Given the description of an element on the screen output the (x, y) to click on. 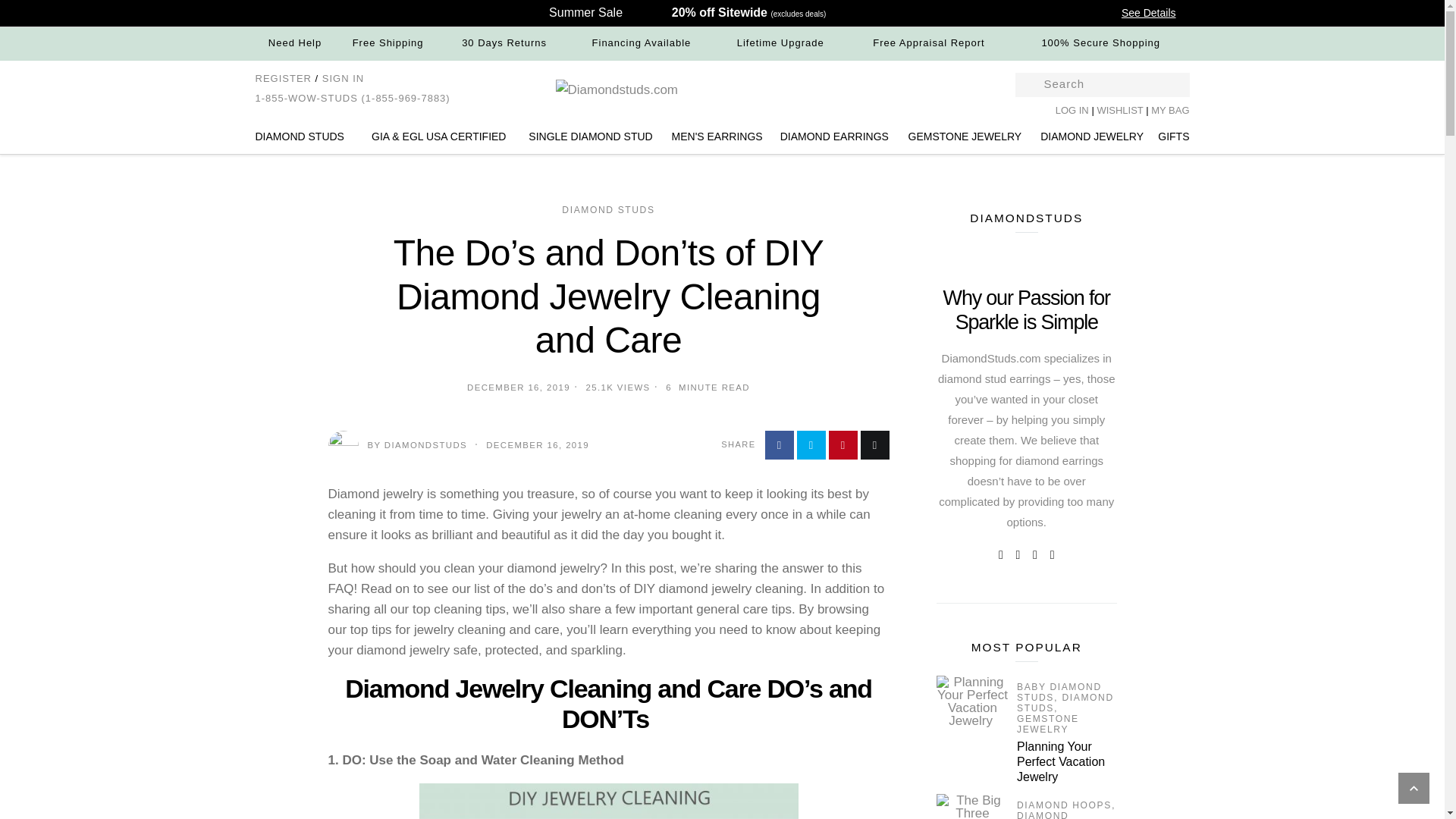
Free Appraisal Report (928, 42)
MY BAG (1170, 110)
Need Help (294, 42)
Free Shipping (387, 42)
Share on Facebook (778, 444)
Summer Sale (585, 12)
SIGN IN (342, 78)
Share on Twitter (810, 444)
Financing Available (641, 42)
30 Days Returns (504, 42)
LOG IN (1072, 110)
See Details (1156, 12)
Share on Pinterest (842, 444)
Lifetime Upgrade (780, 42)
